Given the description of an element on the screen output the (x, y) to click on. 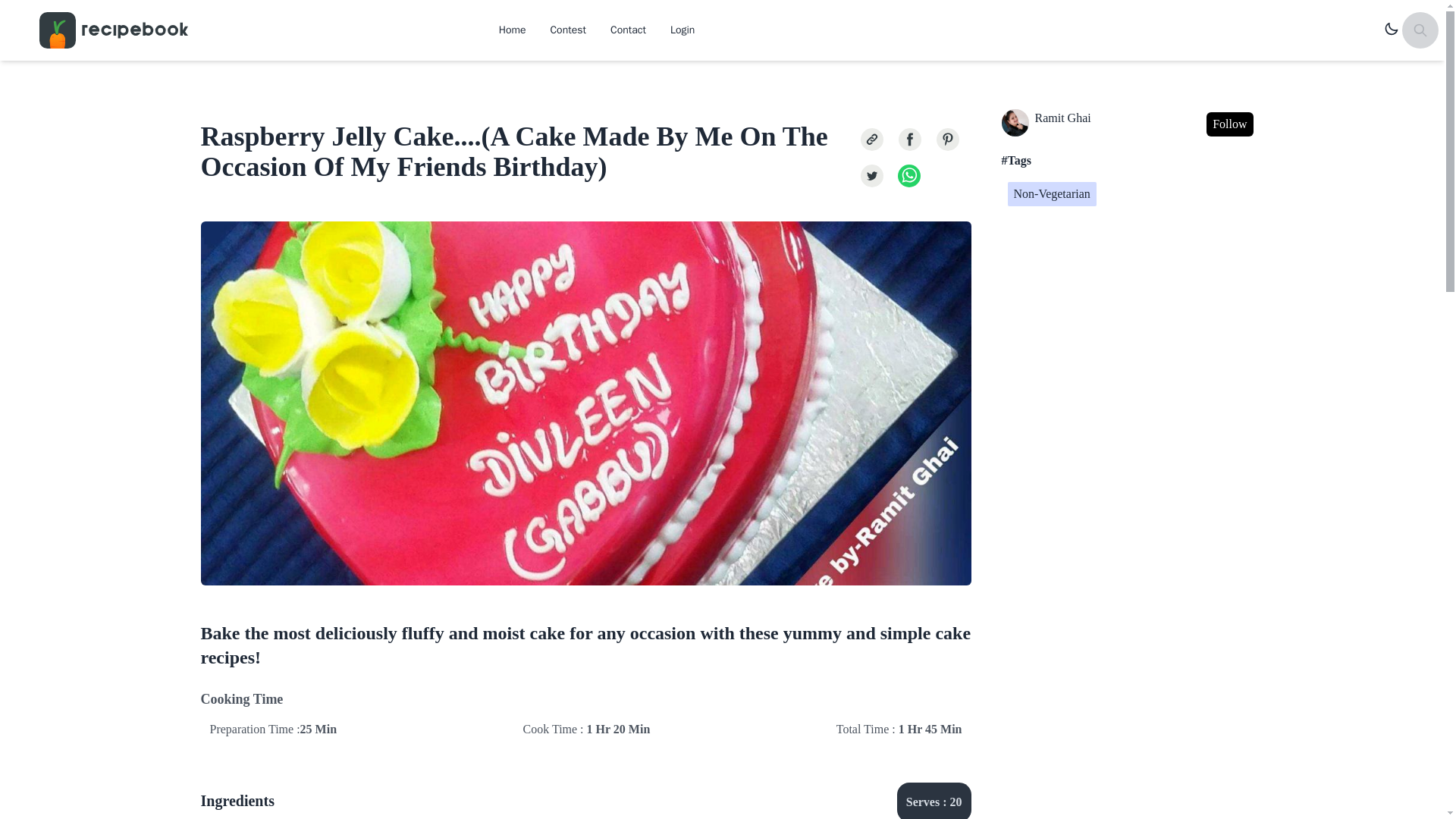
synthwave (1393, 30)
Contact (628, 30)
Ramit Ghai (1045, 124)
Contest (567, 30)
Login (682, 30)
Non-Vegetarian (1051, 193)
Home (512, 30)
